Given the description of an element on the screen output the (x, y) to click on. 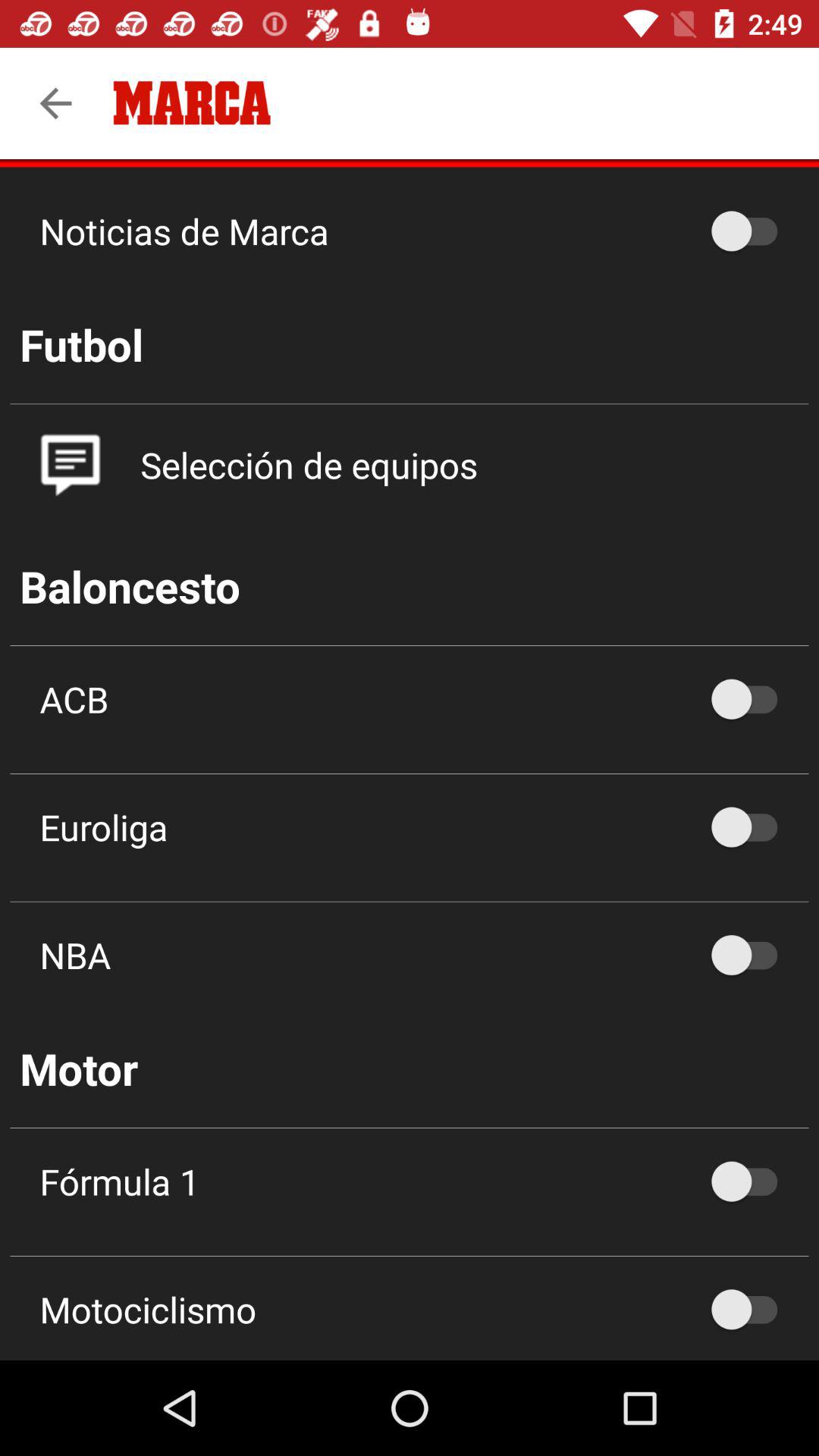
notices on/off button (751, 231)
